Given the description of an element on the screen output the (x, y) to click on. 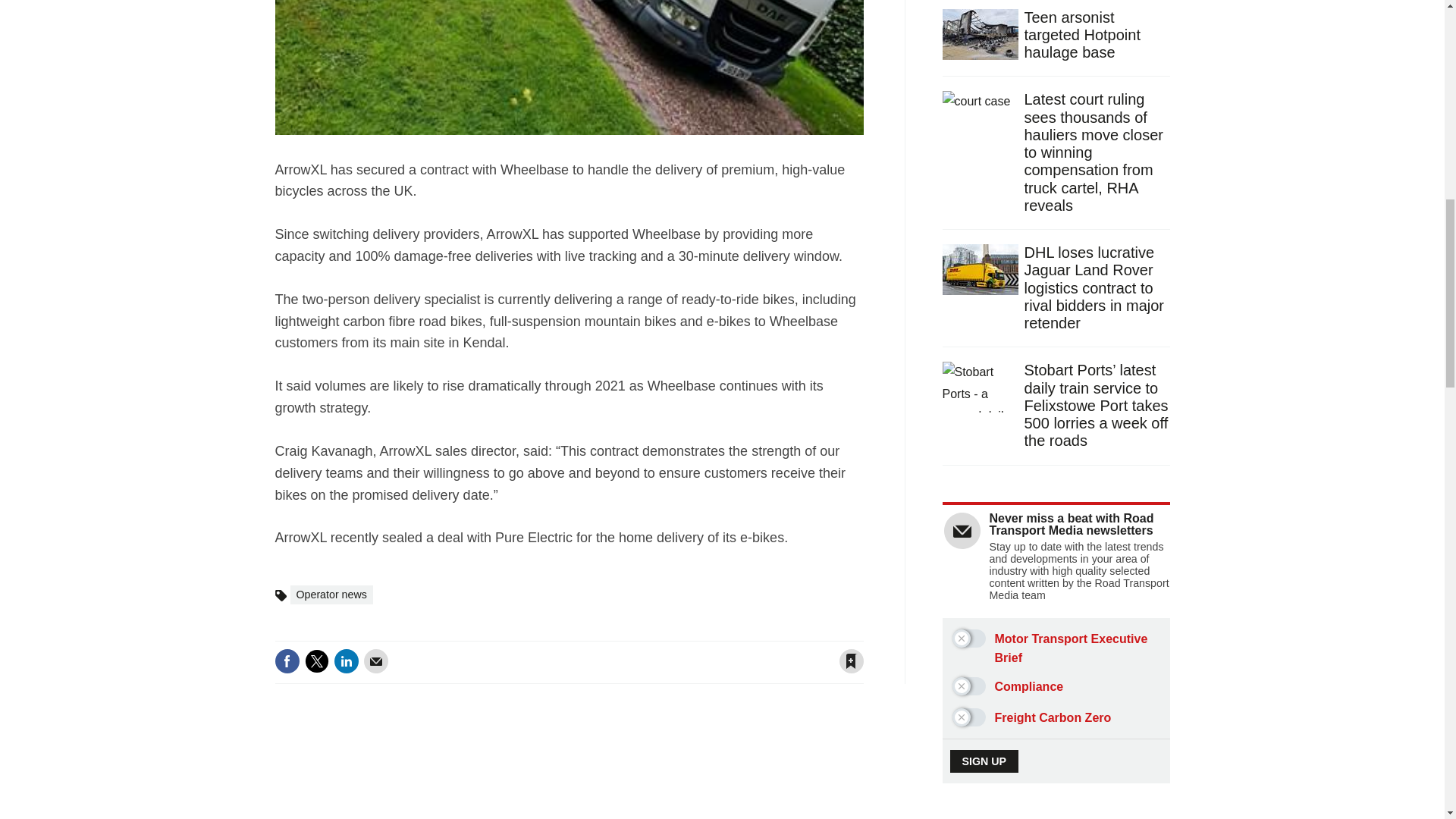
Share this on Linked in (345, 661)
Share this on Facebook (286, 661)
Email this article (376, 661)
Share this on Twitter (316, 661)
